Given the description of an element on the screen output the (x, y) to click on. 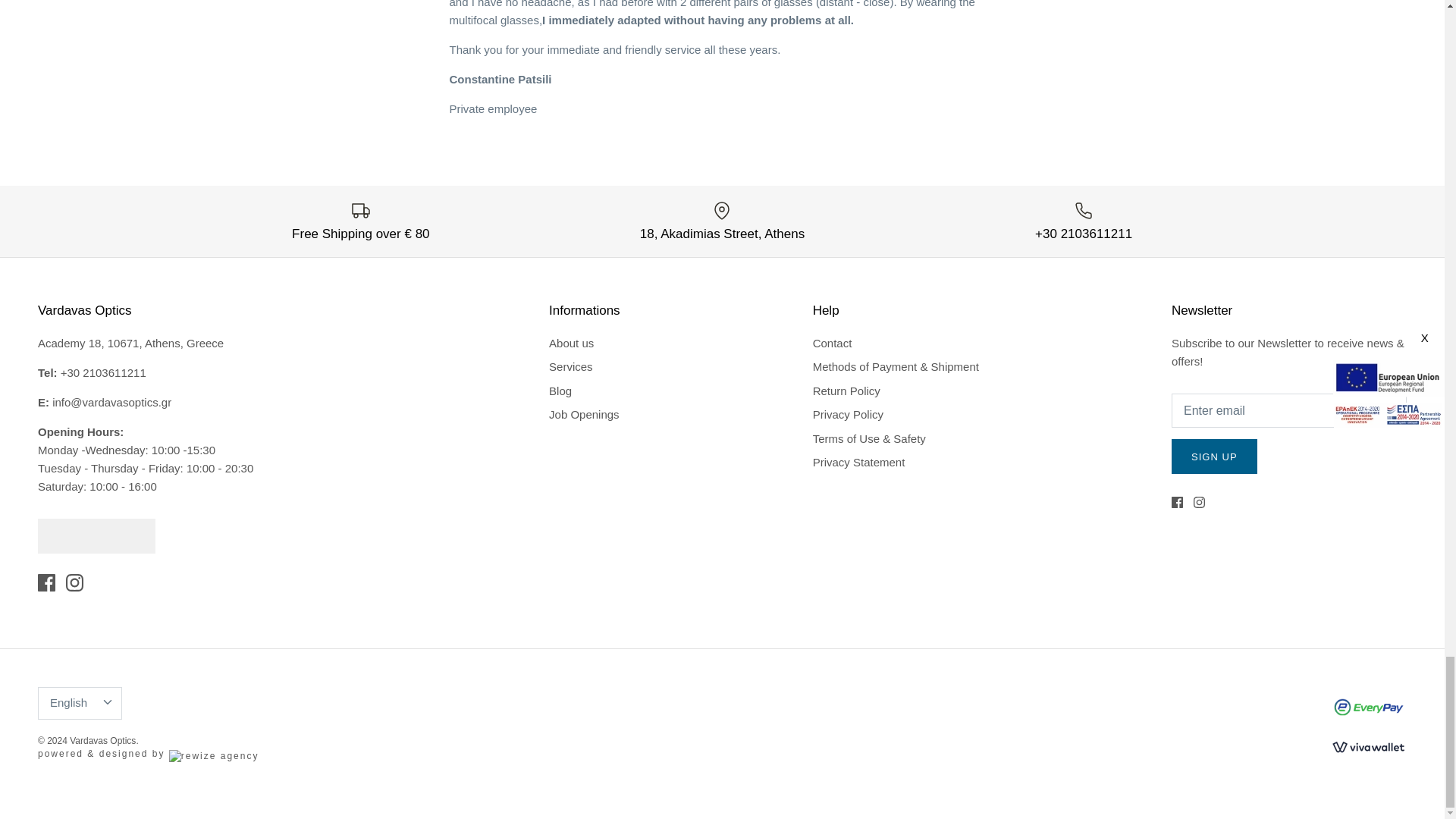
Facebook (46, 582)
Instagram (1199, 501)
Facebook (1177, 501)
Down (107, 702)
Instagram (73, 582)
